Given the description of an element on the screen output the (x, y) to click on. 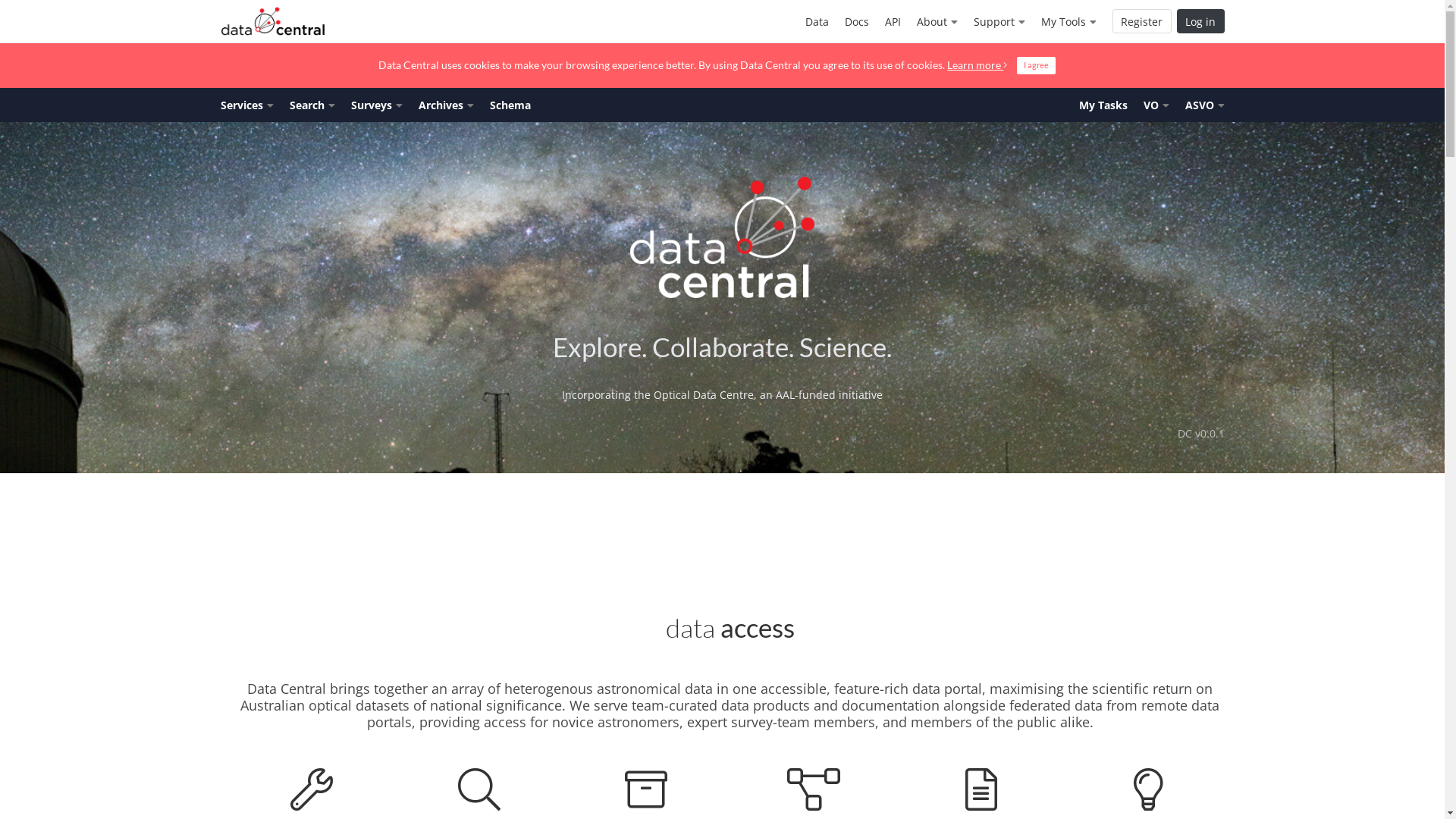
About Element type: text (936, 21)
VO Element type: text (1155, 104)
Docs Element type: text (856, 21)
ASVO Element type: text (1204, 104)
Data Element type: text (816, 21)
API Element type: text (892, 21)
Register Element type: text (1140, 21)
My Tasks Element type: text (1102, 104)
Archives Element type: text (445, 104)
Services Element type: text (246, 104)
Back to Data Central Element type: hover (272, 21)
I agree Element type: text (1035, 65)
Schema Element type: text (509, 104)
Learn more Element type: text (977, 63)
Log in Element type: text (1200, 21)
Surveys Element type: text (376, 104)
Search Element type: text (311, 104)
